Given the description of an element on the screen output the (x, y) to click on. 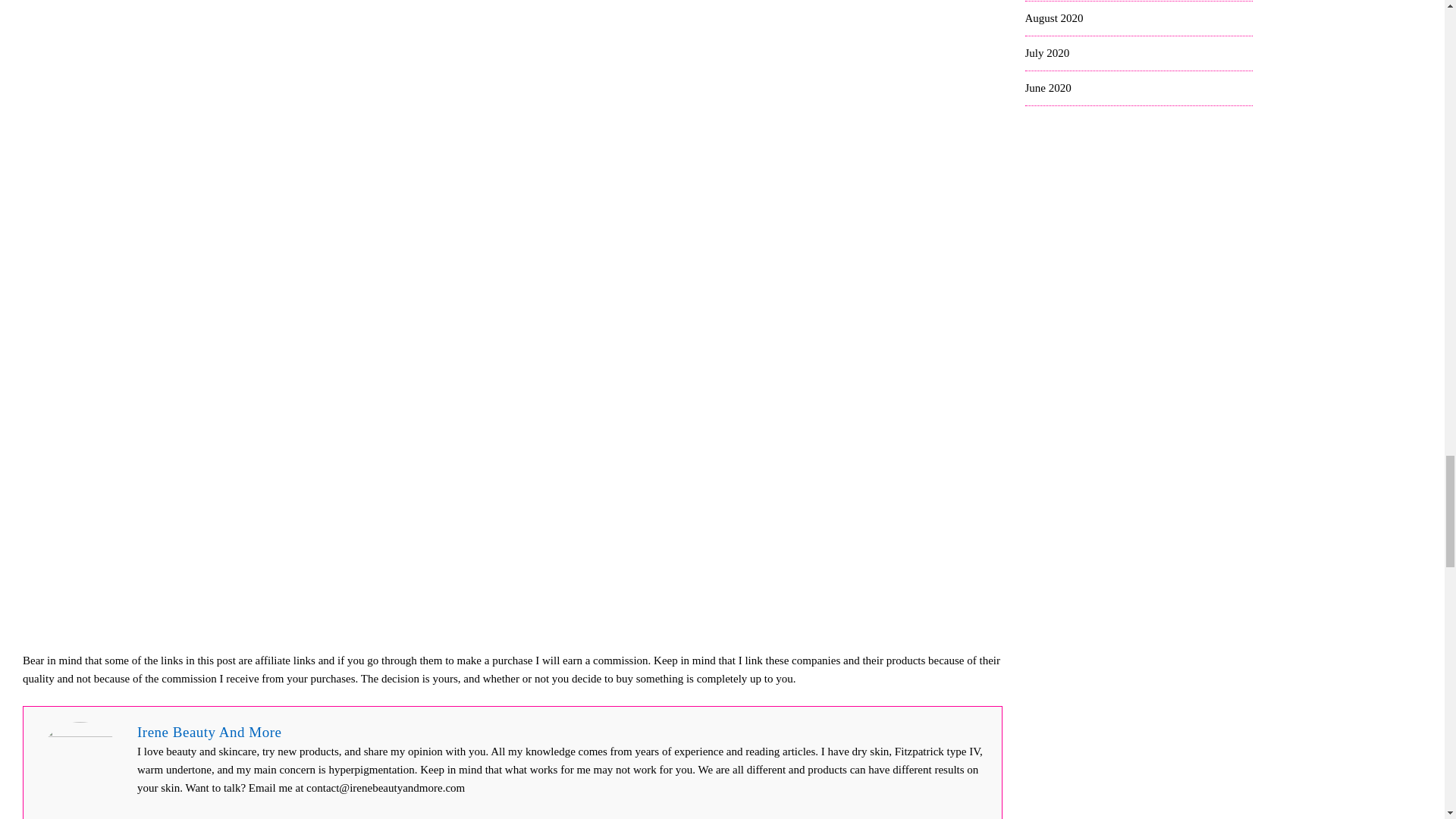
Posts by Irene Beauty And More (208, 731)
